Given the description of an element on the screen output the (x, y) to click on. 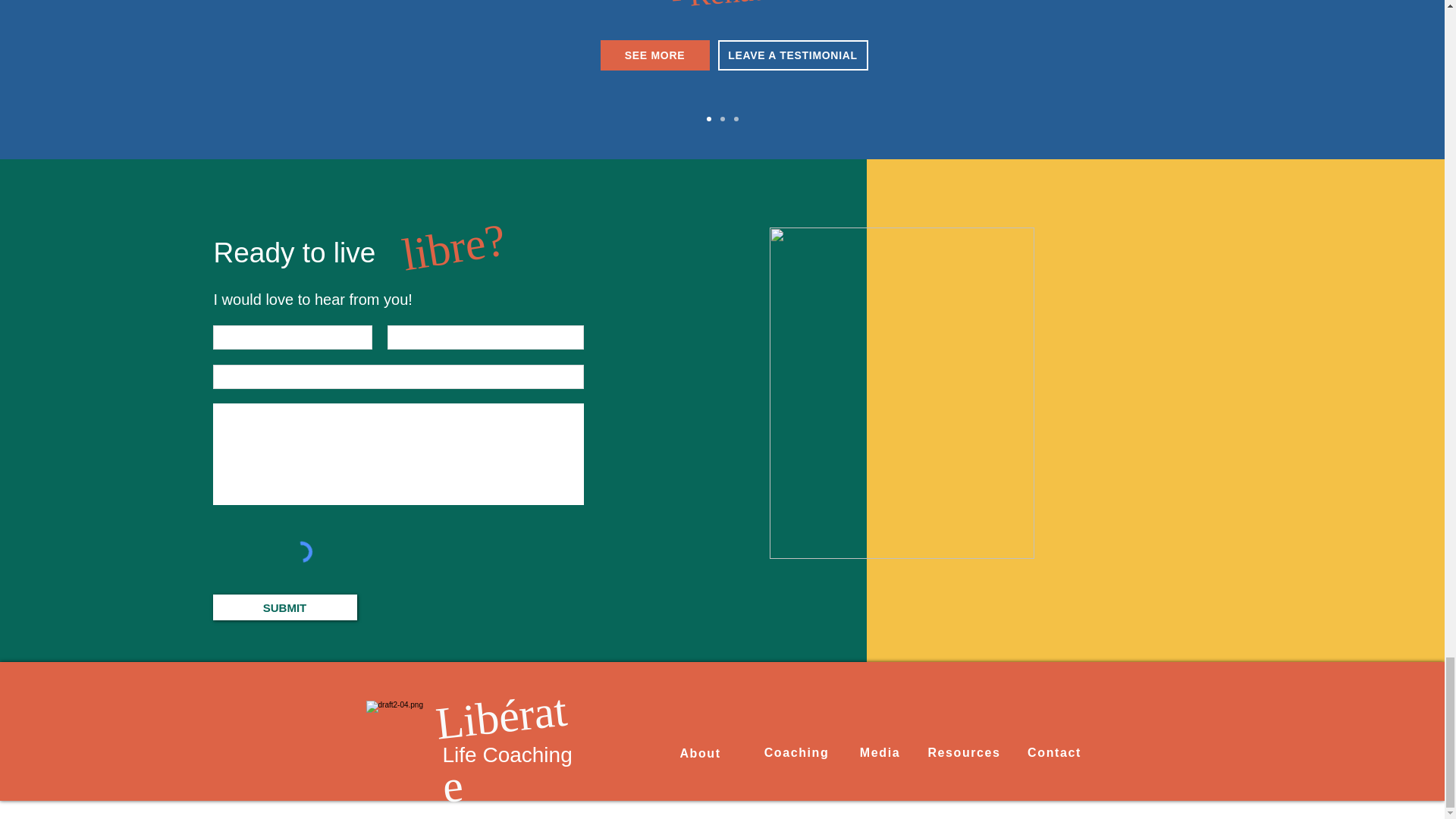
Resources (964, 752)
LEAVE A TESTIMONIAL (792, 55)
About (700, 753)
SEE MORE (654, 55)
Coaching (796, 752)
Contact (1053, 752)
Media (879, 752)
SUBMIT (284, 606)
